Given the description of an element on the screen output the (x, y) to click on. 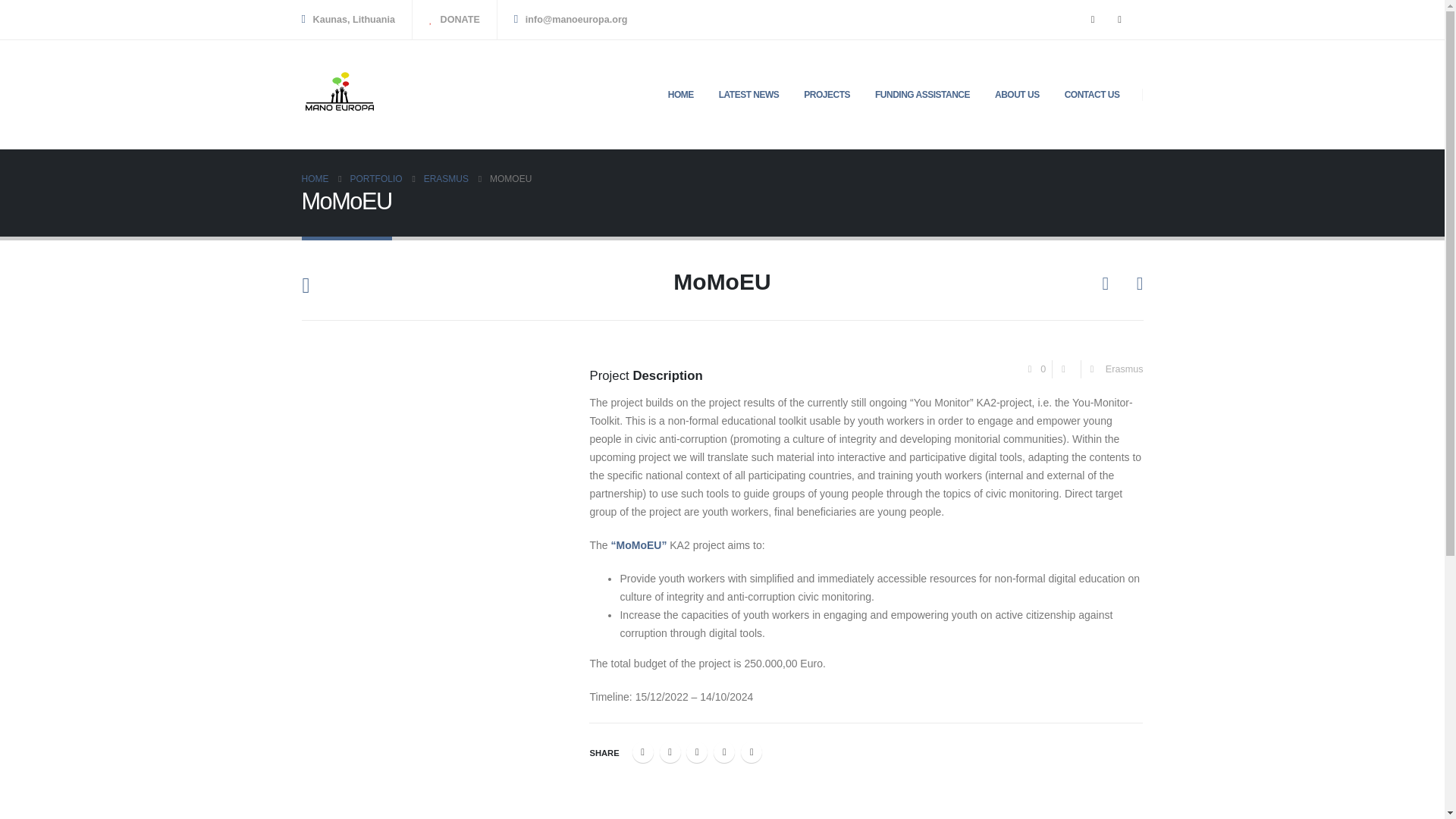
Twitter (670, 752)
DONATE (454, 19)
Facebook (642, 752)
CONTACT US (1092, 94)
Next (1132, 284)
Go to Home Page (315, 178)
Instagram (1119, 19)
PORTFOLIO (376, 178)
LinkedIn (696, 752)
LinkedIn (696, 752)
